Given the description of an element on the screen output the (x, y) to click on. 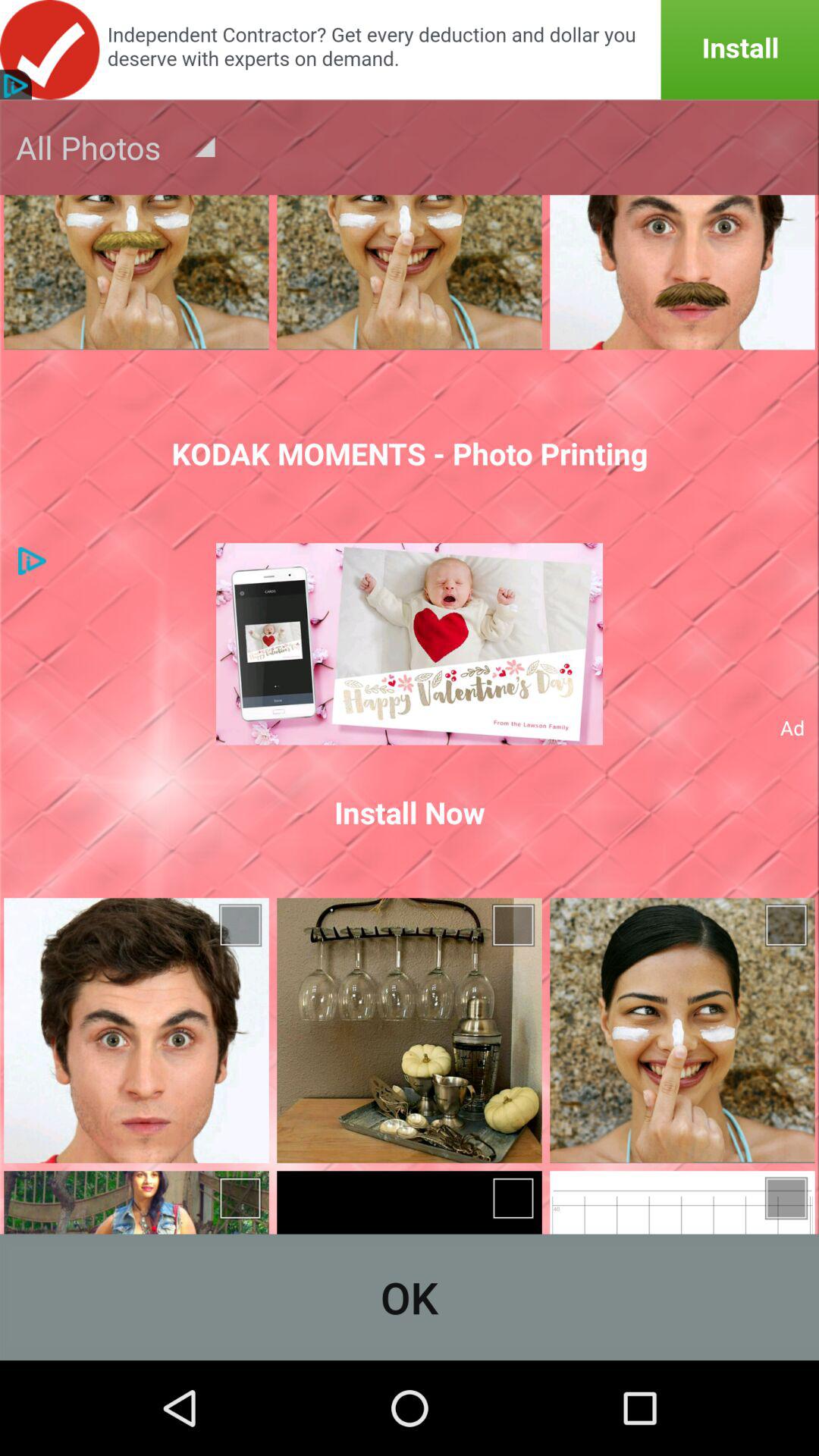
swipe to the ok item (409, 1297)
